Given the description of an element on the screen output the (x, y) to click on. 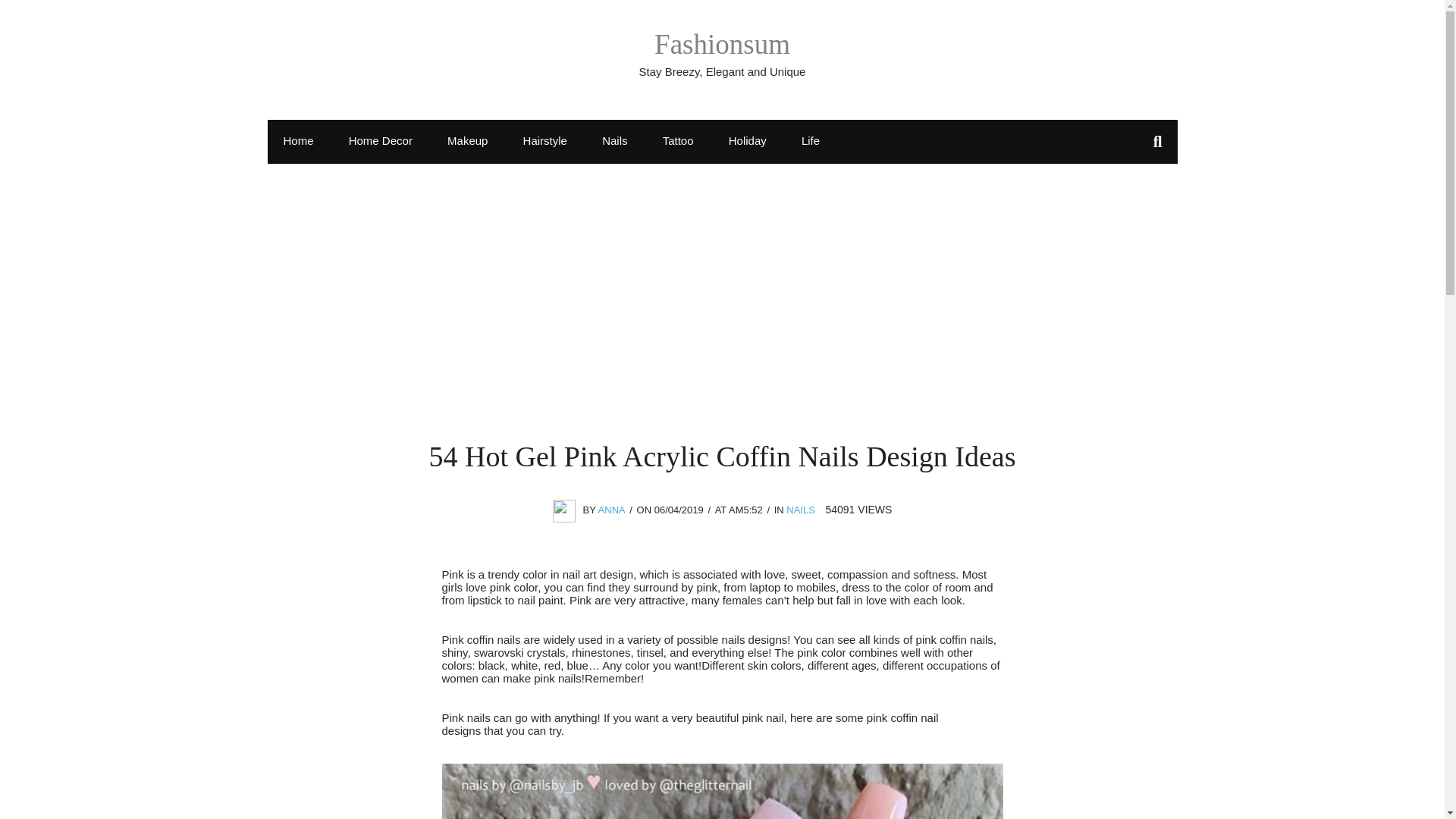
Fashionsum (721, 43)
Nails (614, 140)
Tattoo (678, 140)
ANNA (612, 509)
NAILS (800, 509)
Home Decor (380, 140)
Posts by Anna (612, 509)
Hairstyle (544, 140)
Fashionsum (721, 43)
Home (297, 140)
Advertisement (722, 326)
Search (28, 15)
Makeup (466, 140)
Life (810, 140)
Holiday (748, 140)
